Given the description of an element on the screen output the (x, y) to click on. 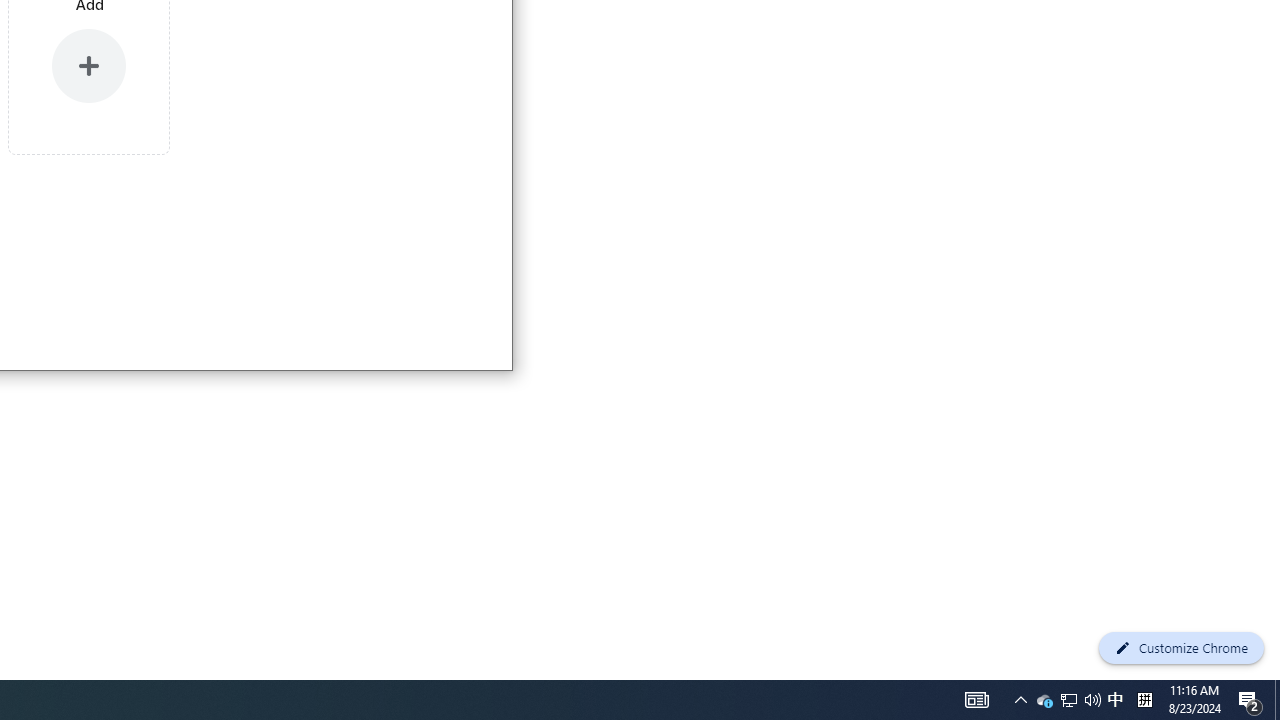
User Promoted Notification Area (1068, 699)
Action Center, 2 new notifications (1250, 699)
AutomationID: 4105 (1069, 699)
Notification Chevron (976, 699)
Show desktop (1044, 699)
Tray Input Indicator - Chinese (Simplified, China) (1020, 699)
Q2790: 100% (1115, 699)
